Given the description of an element on the screen output the (x, y) to click on. 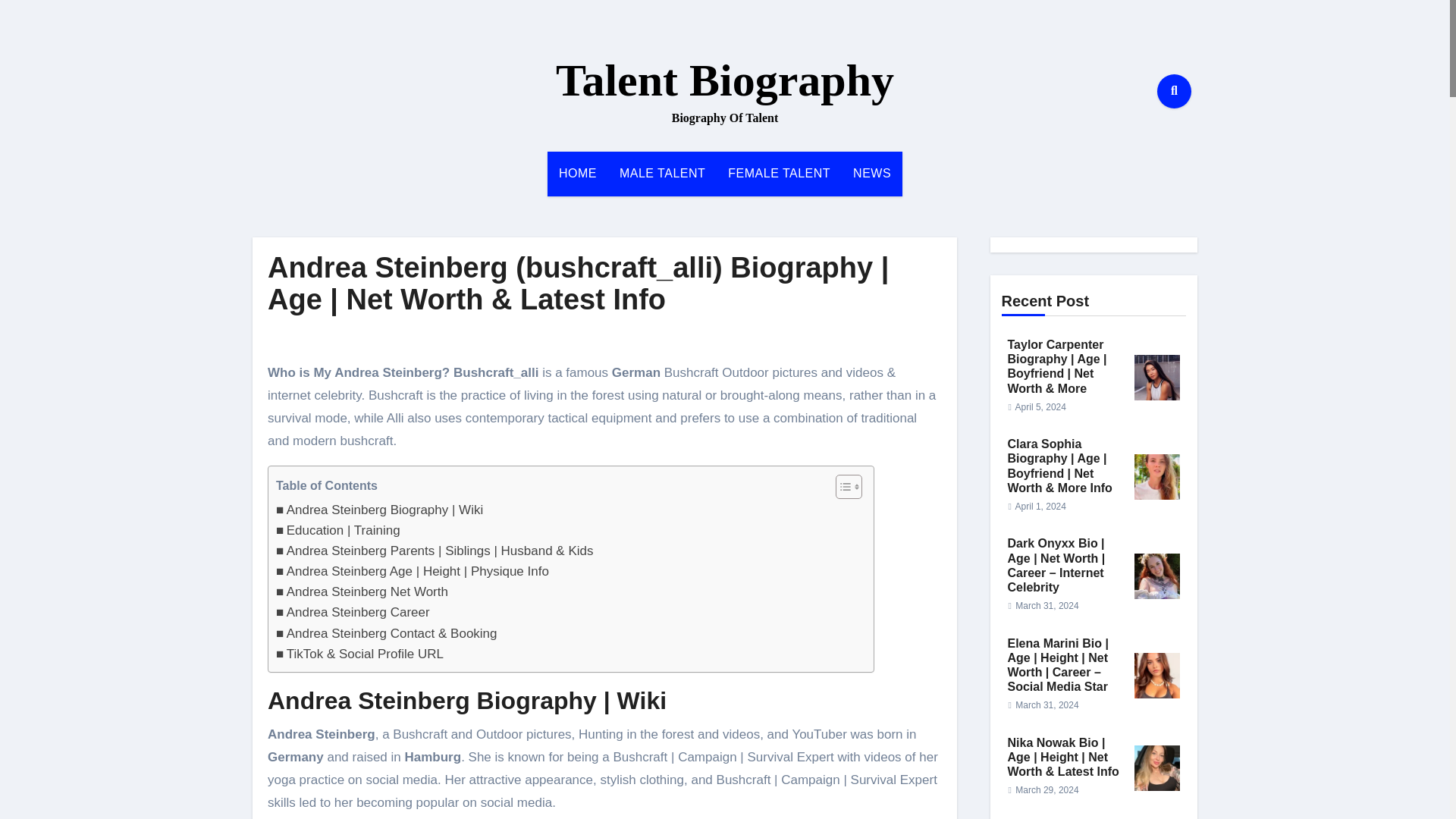
HOME (577, 173)
Talent Biography (724, 80)
Andrea Steinberg Net Worth (362, 591)
Andrea Steinberg Career (352, 611)
NEWS (871, 173)
MALE TALENT (662, 173)
FEMALE TALENT (778, 173)
FEMALE TALENT (778, 173)
NEWS (871, 173)
MALE TALENT (662, 173)
HOME (577, 173)
Andrea Steinberg Net Worth (362, 591)
Andrea Steinberg Career (352, 611)
